Given the description of an element on the screen output the (x, y) to click on. 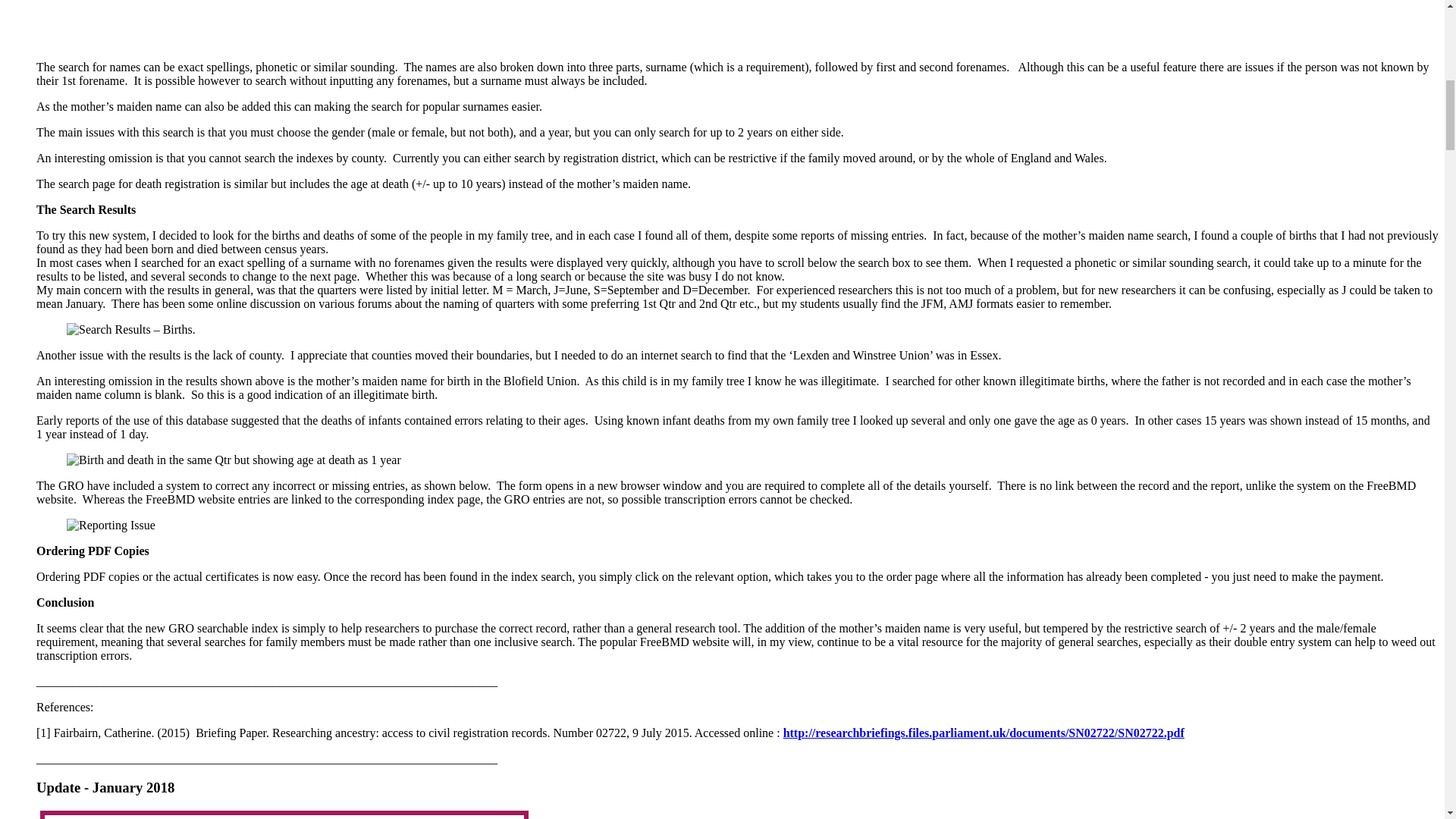
Update (58, 787)
Reporting Issue (110, 525)
